Given the description of an element on the screen output the (x, y) to click on. 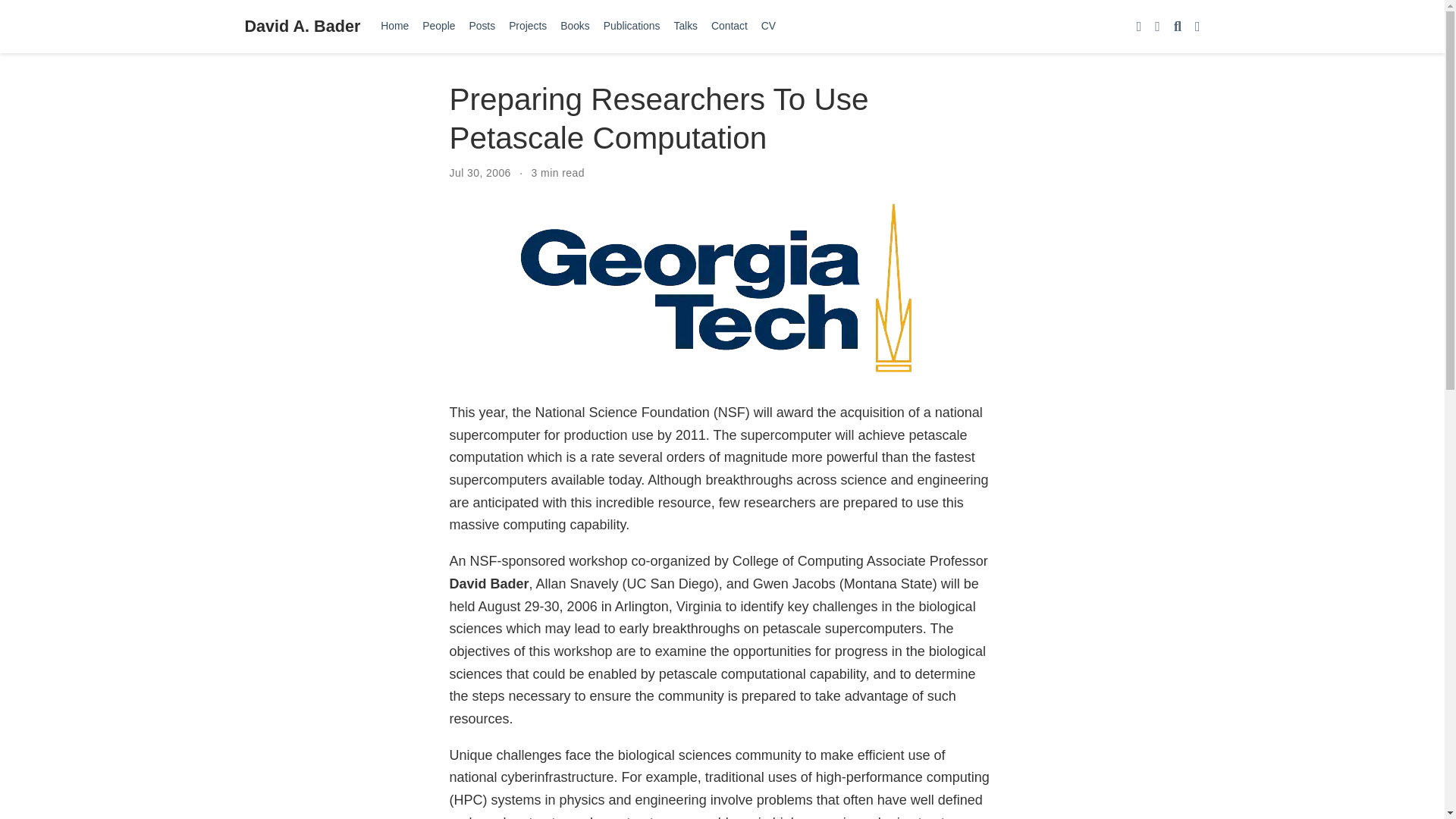
David A. Bader (301, 26)
Posts (481, 26)
Contact (729, 26)
CV (768, 26)
Talks (685, 26)
Publications (631, 26)
Home (394, 26)
People (437, 26)
Books (574, 26)
Projects (527, 26)
